Given the description of an element on the screen output the (x, y) to click on. 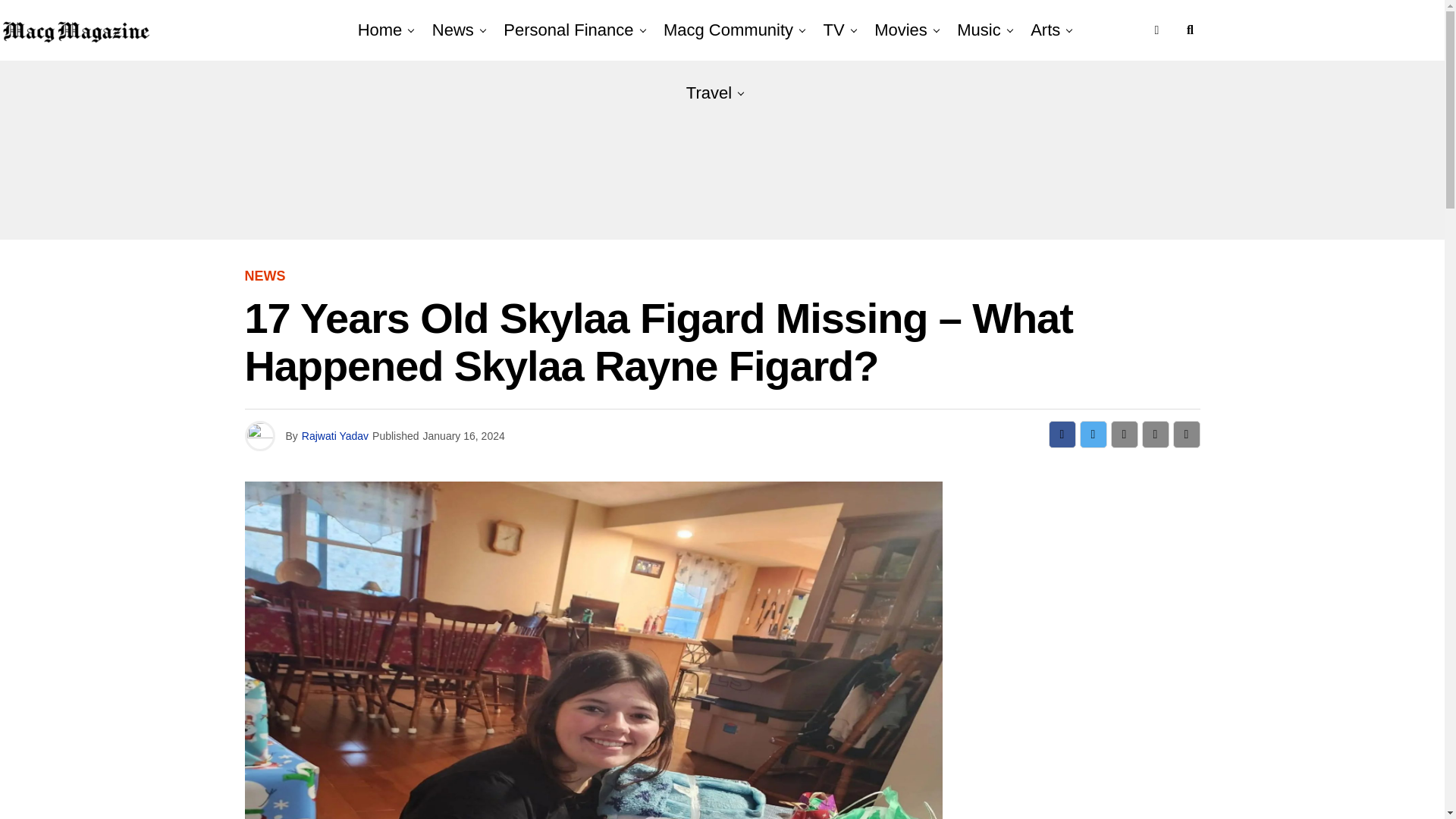
Macg Community (728, 30)
Share on Facebook (1061, 433)
Tweet This Post (1093, 433)
Posts by Rajwati Yadav (334, 435)
Personal Finance (568, 30)
News (453, 30)
Home (380, 30)
